Given the description of an element on the screen output the (x, y) to click on. 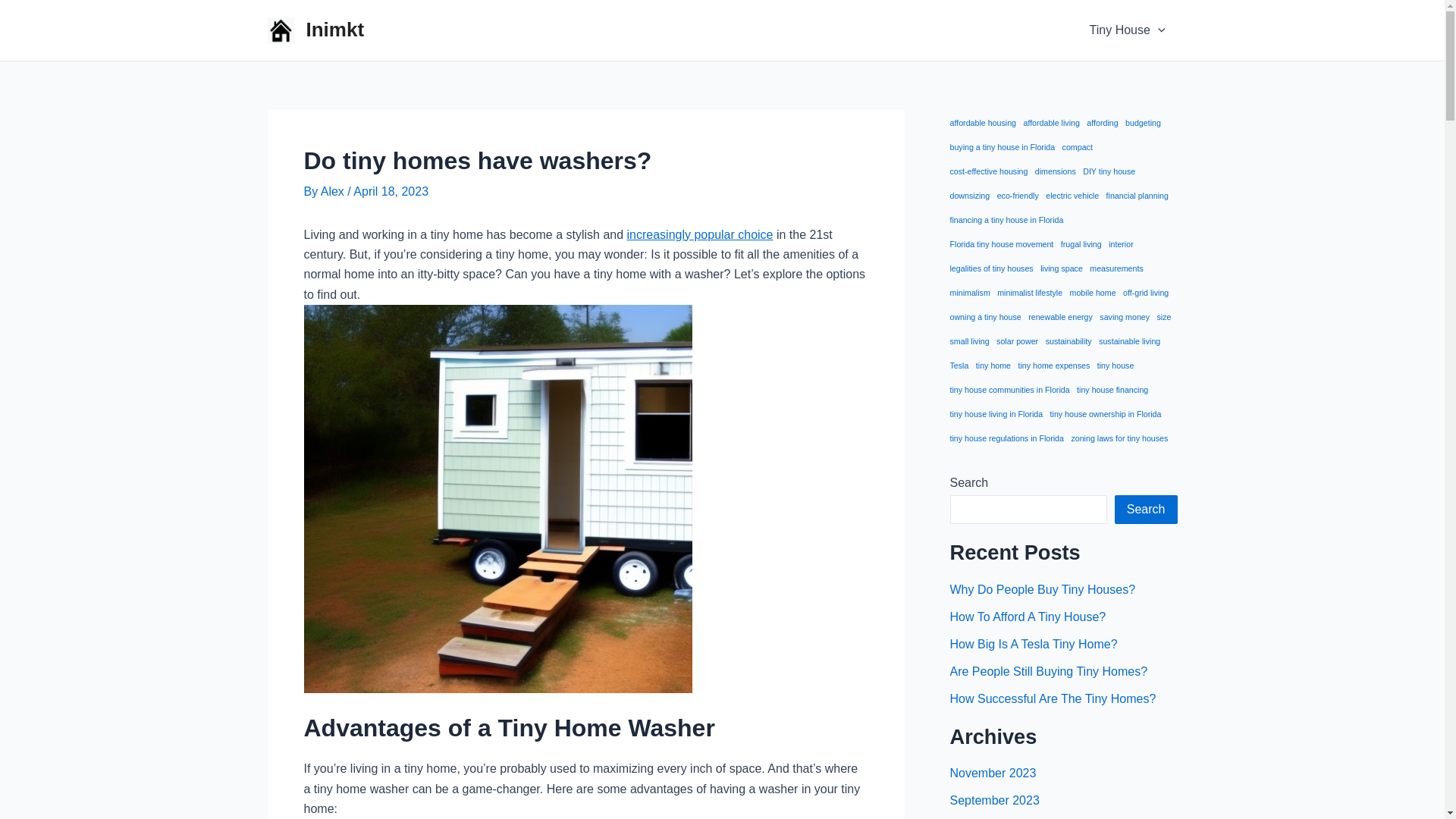
eco-friendly (1018, 195)
financial planning (1137, 195)
affordable living (1050, 123)
DIY tiny house (1109, 171)
Florida tiny house movement (1000, 244)
Where do you sleep in a tiny house? (700, 234)
increasingly popular choice (700, 234)
affording (1102, 123)
financing a tiny house in Florida (1005, 220)
View all posts by Alex (333, 191)
